Given the description of an element on the screen output the (x, y) to click on. 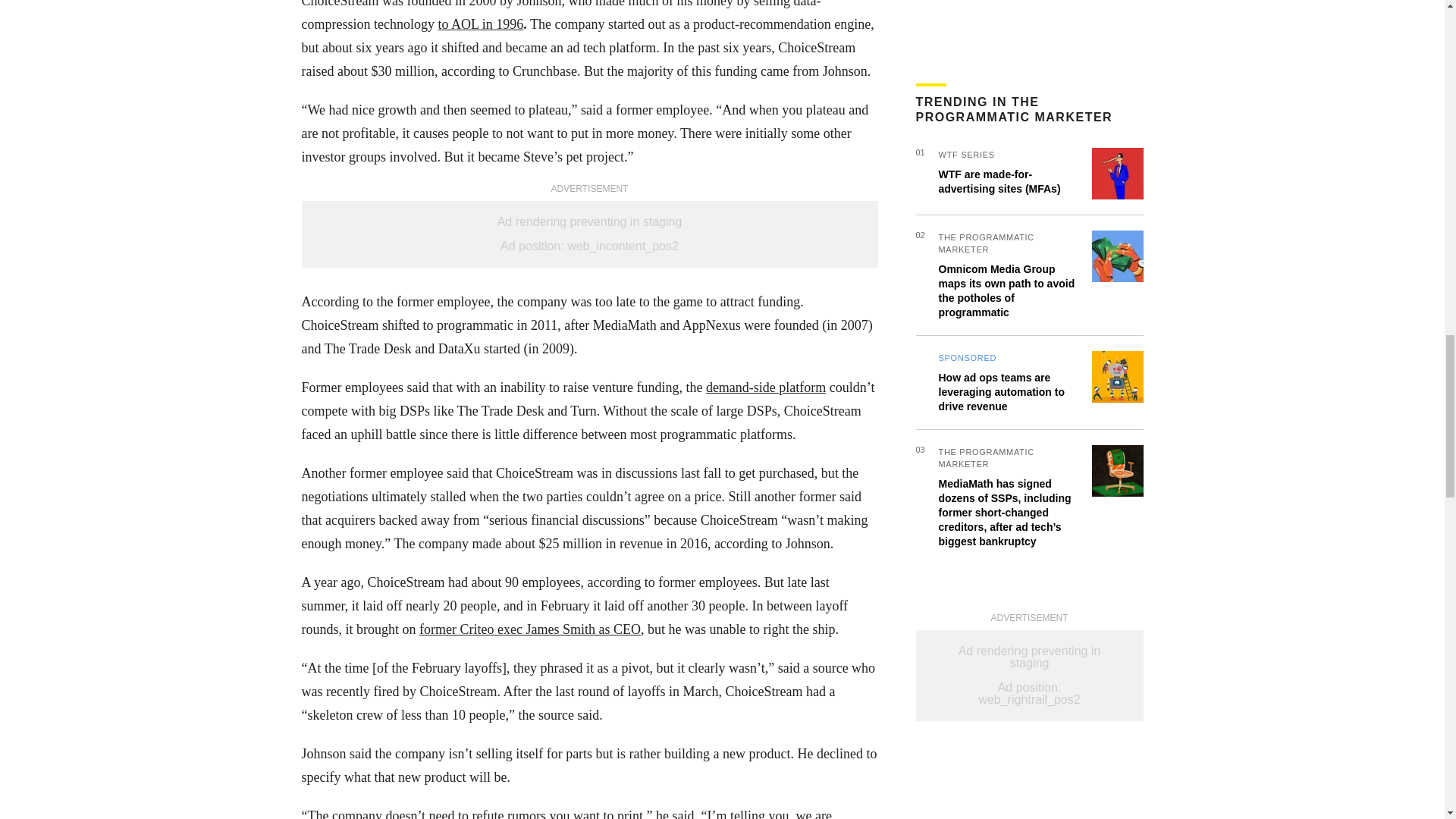
How ad ops teams are leveraging automation to drive revenue (1001, 102)
